Given the description of an element on the screen output the (x, y) to click on. 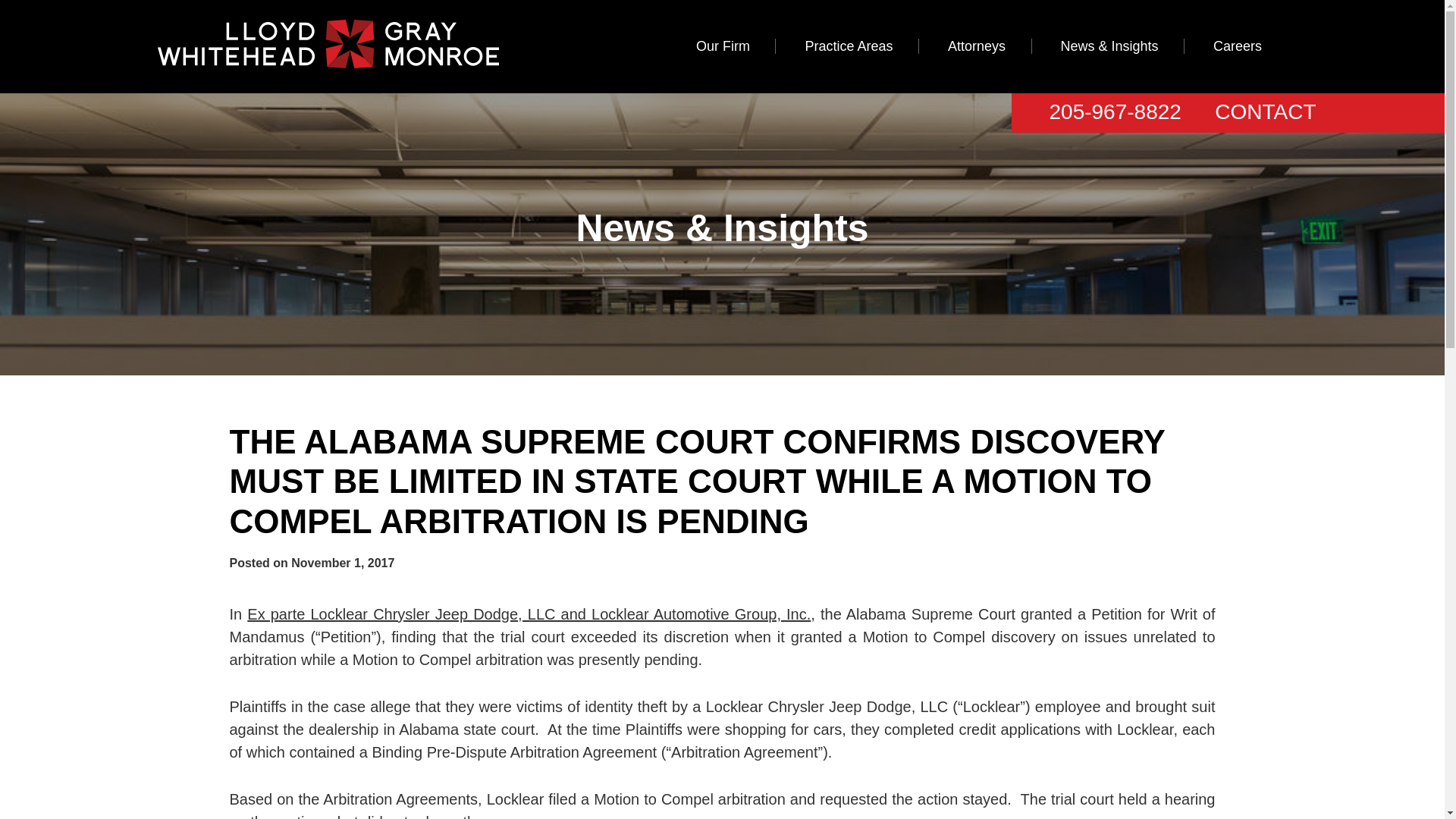
Practice Areas (848, 46)
Our Firm (722, 46)
Careers (1237, 46)
CONTACT (1264, 111)
205-967-8822 (1114, 111)
Attorneys (975, 46)
